Given the description of an element on the screen output the (x, y) to click on. 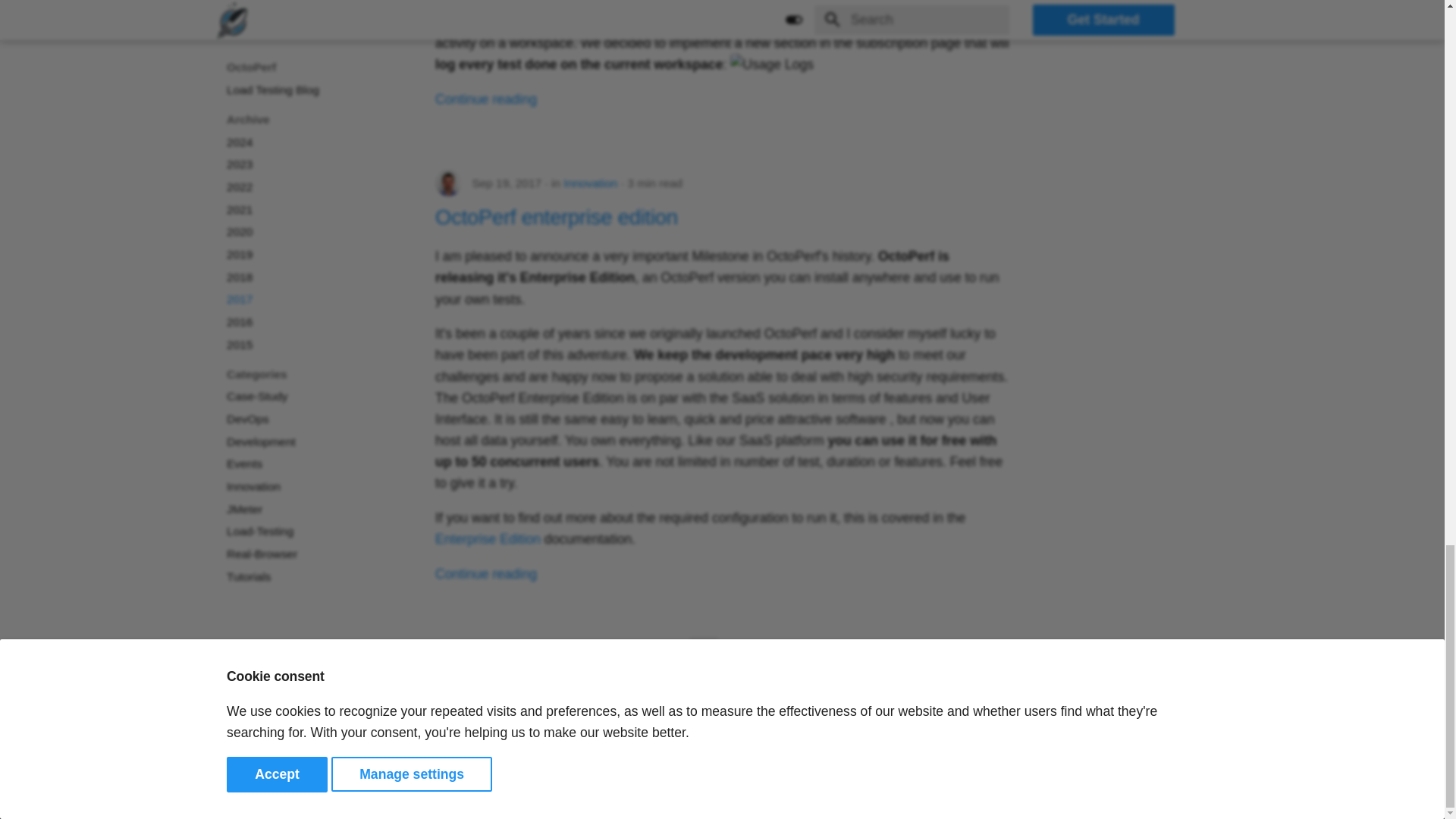
OctoPerf on Linked'In (1117, 791)
OctoPerf RSS (1207, 791)
OctoPerf on Youtube (1177, 791)
Enterprise edition (487, 539)
Apache (919, 799)
OctoPerf on Github (1147, 791)
Apache (577, 799)
JMeter (664, 799)
